Given the description of an element on the screen output the (x, y) to click on. 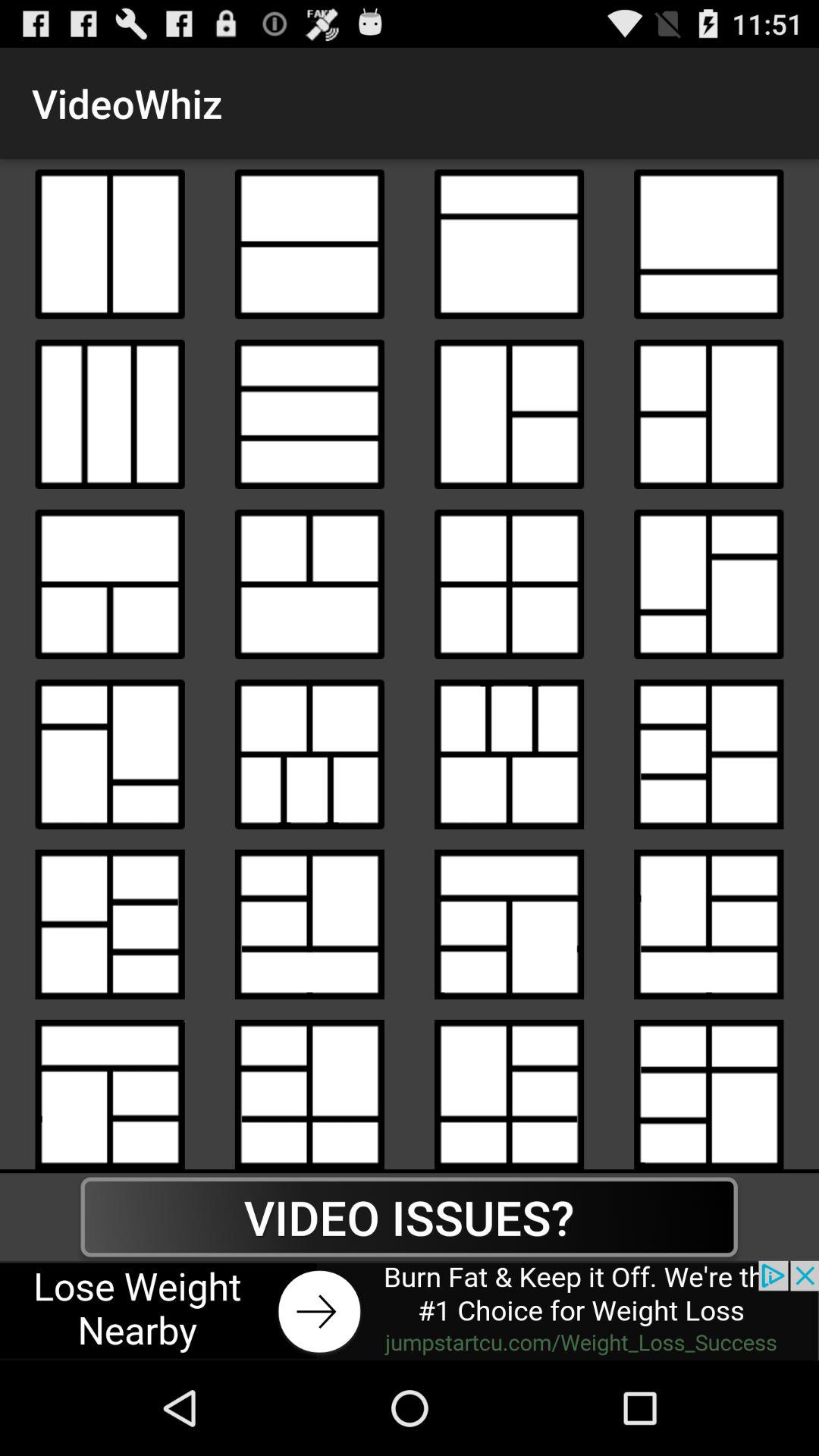
layout option (708, 584)
